Given the description of an element on the screen output the (x, y) to click on. 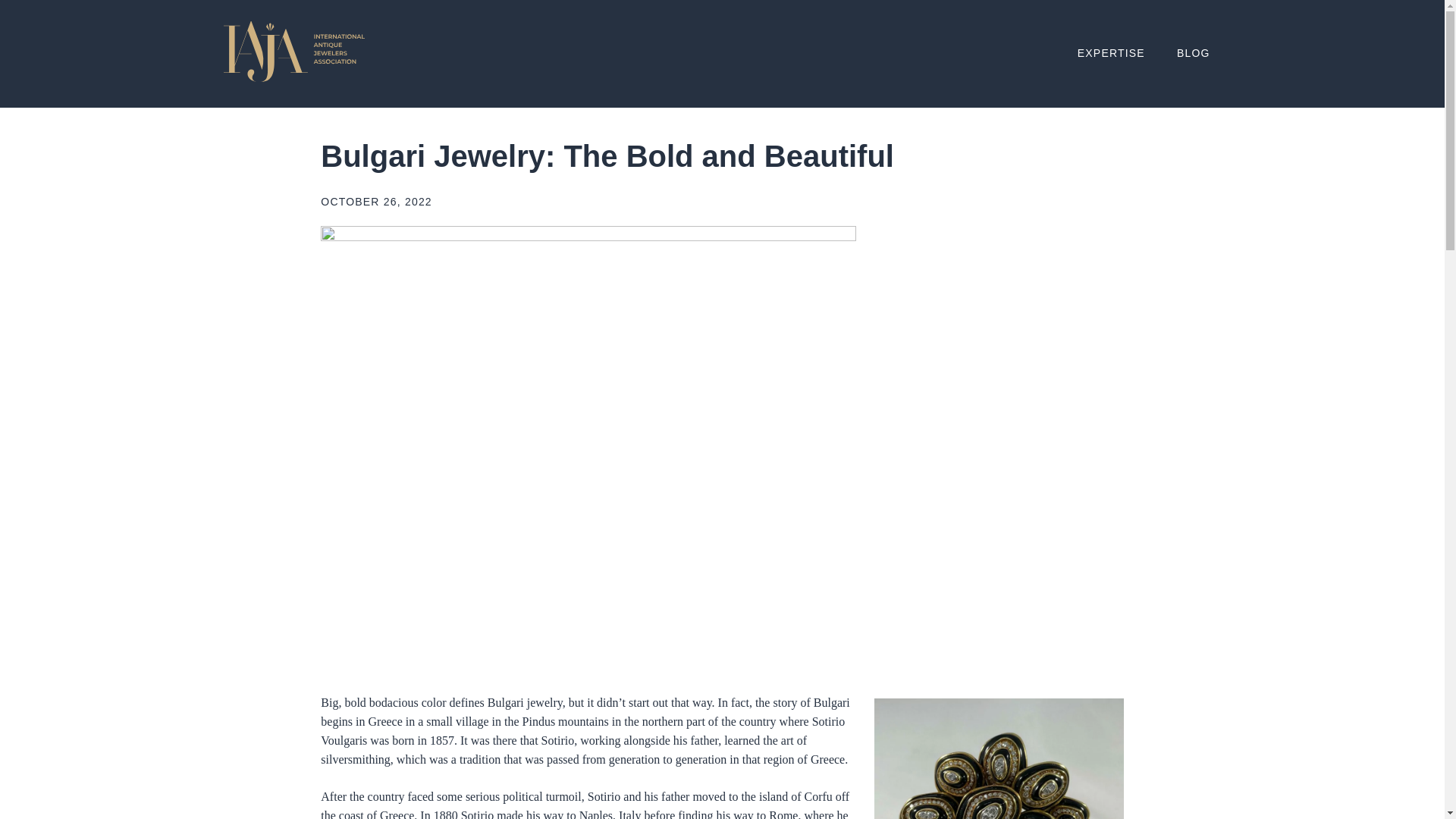
OCTOBER 26, 2022 (376, 201)
EXPERTISE (1110, 53)
BLOG (1192, 53)
Go (18, 11)
